Given the description of an element on the screen output the (x, y) to click on. 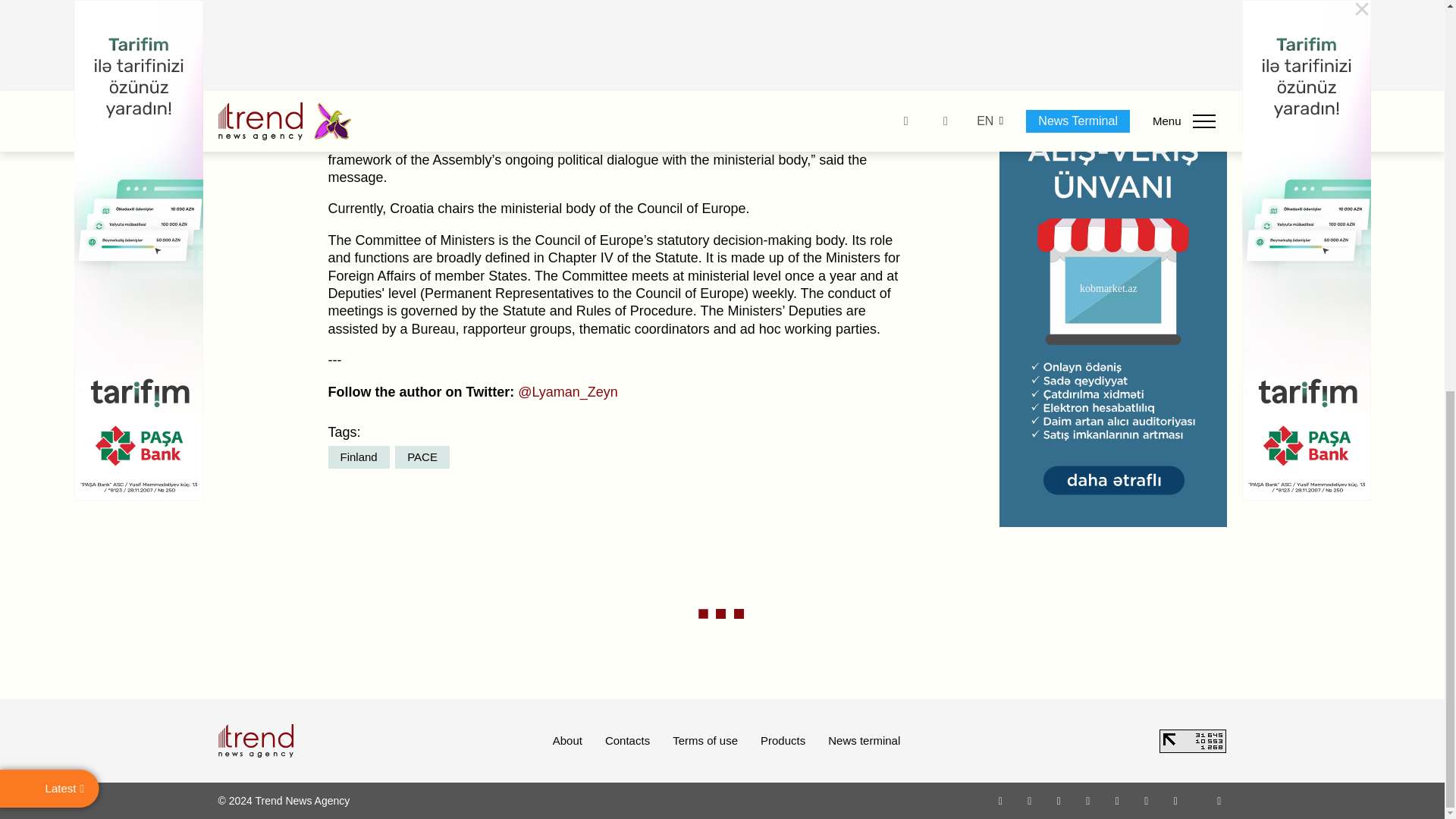
Telegram (1117, 800)
Android App (1176, 800)
Whatsapp (1000, 800)
Youtube (1088, 800)
Facebook (1029, 800)
LinkedIn (1146, 800)
RSS Feed (1219, 800)
Twitter (1059, 800)
